Given the description of an element on the screen output the (x, y) to click on. 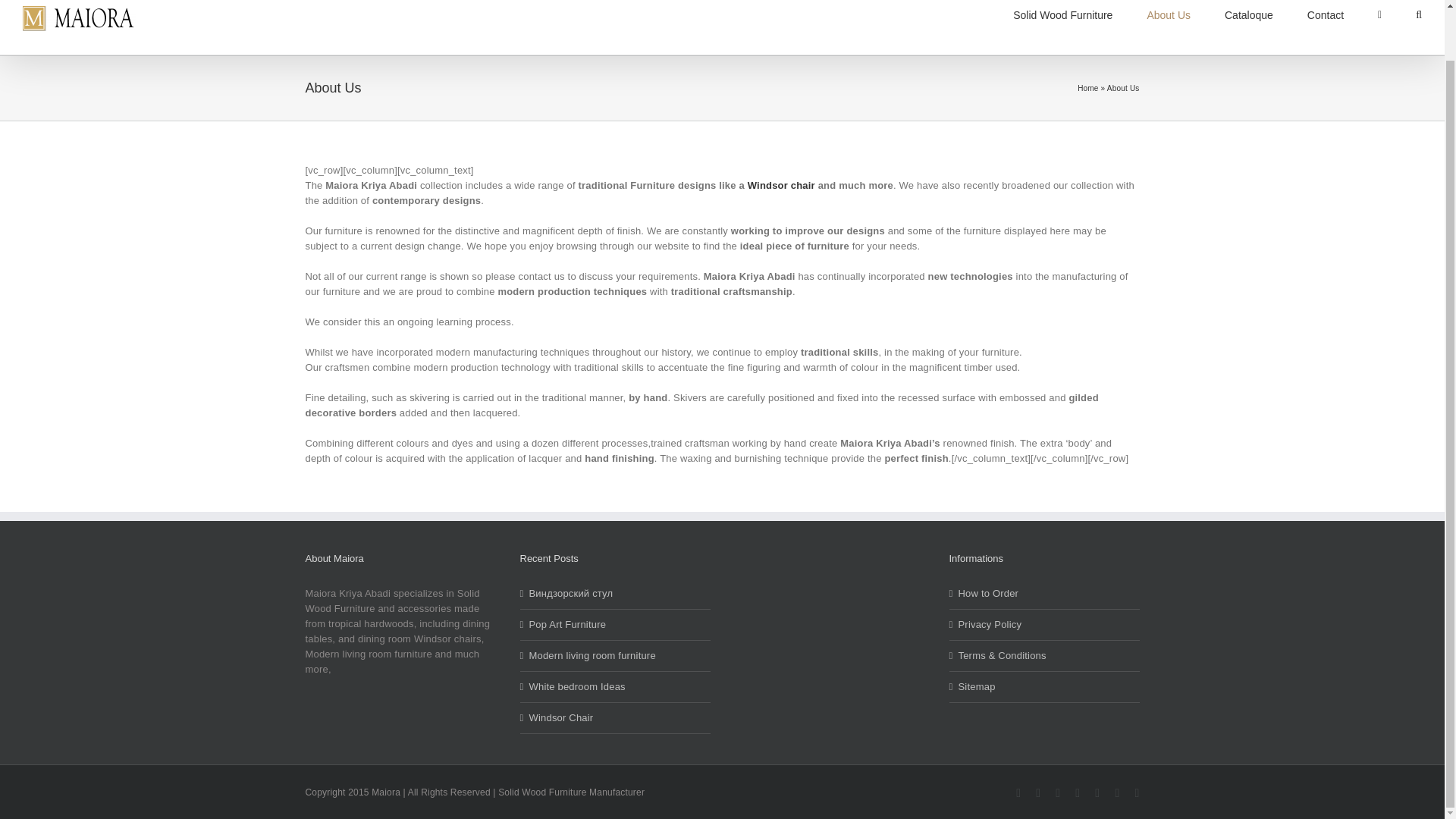
Solid Wood Furniture (1062, 22)
Solid Wood Furniture (1062, 22)
traditional furniture designs (1169, 22)
Cataloque (1248, 22)
About Us (1169, 22)
Windsor chair (781, 184)
Home (1087, 88)
Log In (1309, 93)
